Given the description of an element on the screen output the (x, y) to click on. 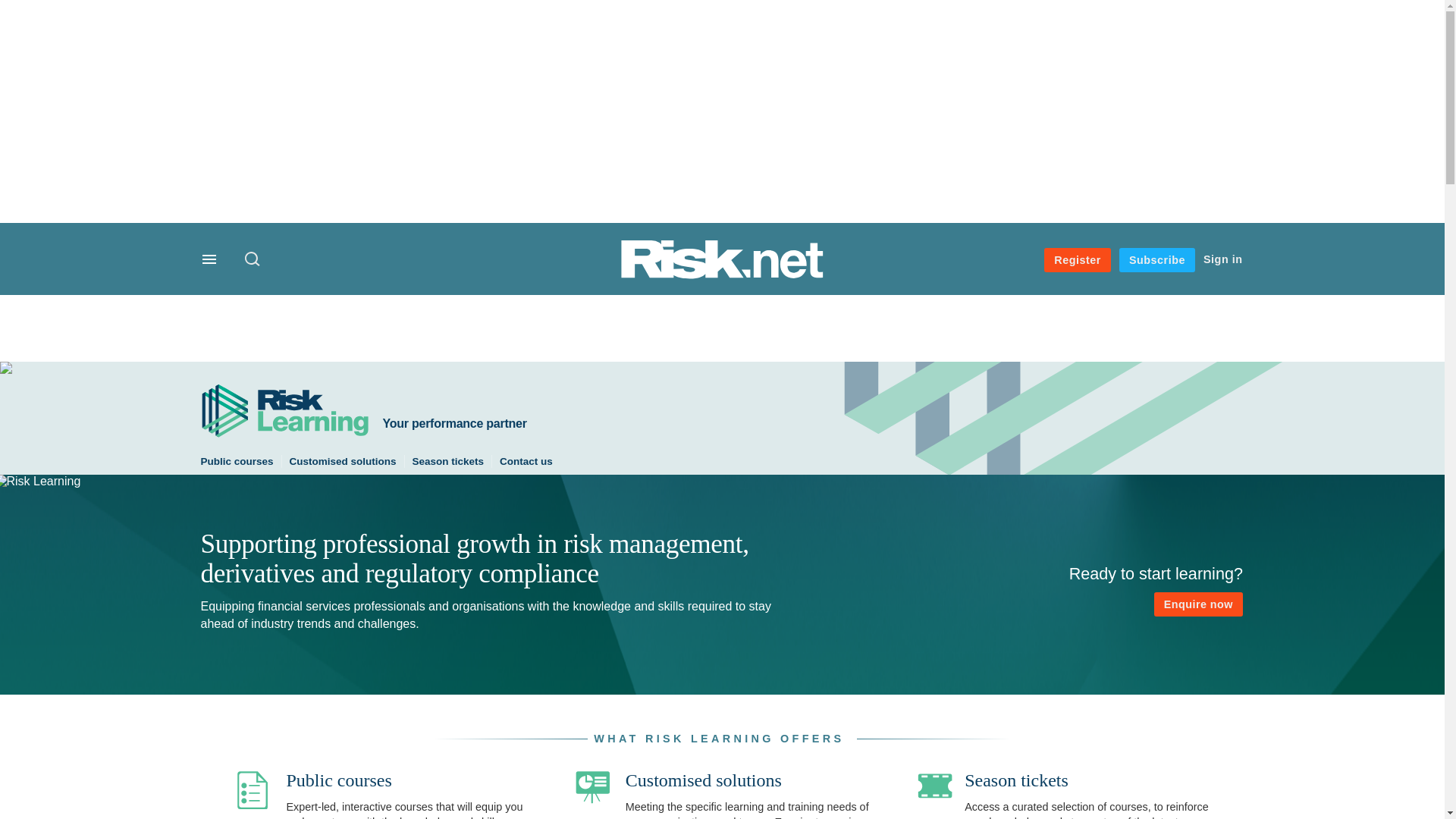
Open search popup (251, 258)
Open side navigation menu (210, 260)
Return to homepage (722, 274)
